Given the description of an element on the screen output the (x, y) to click on. 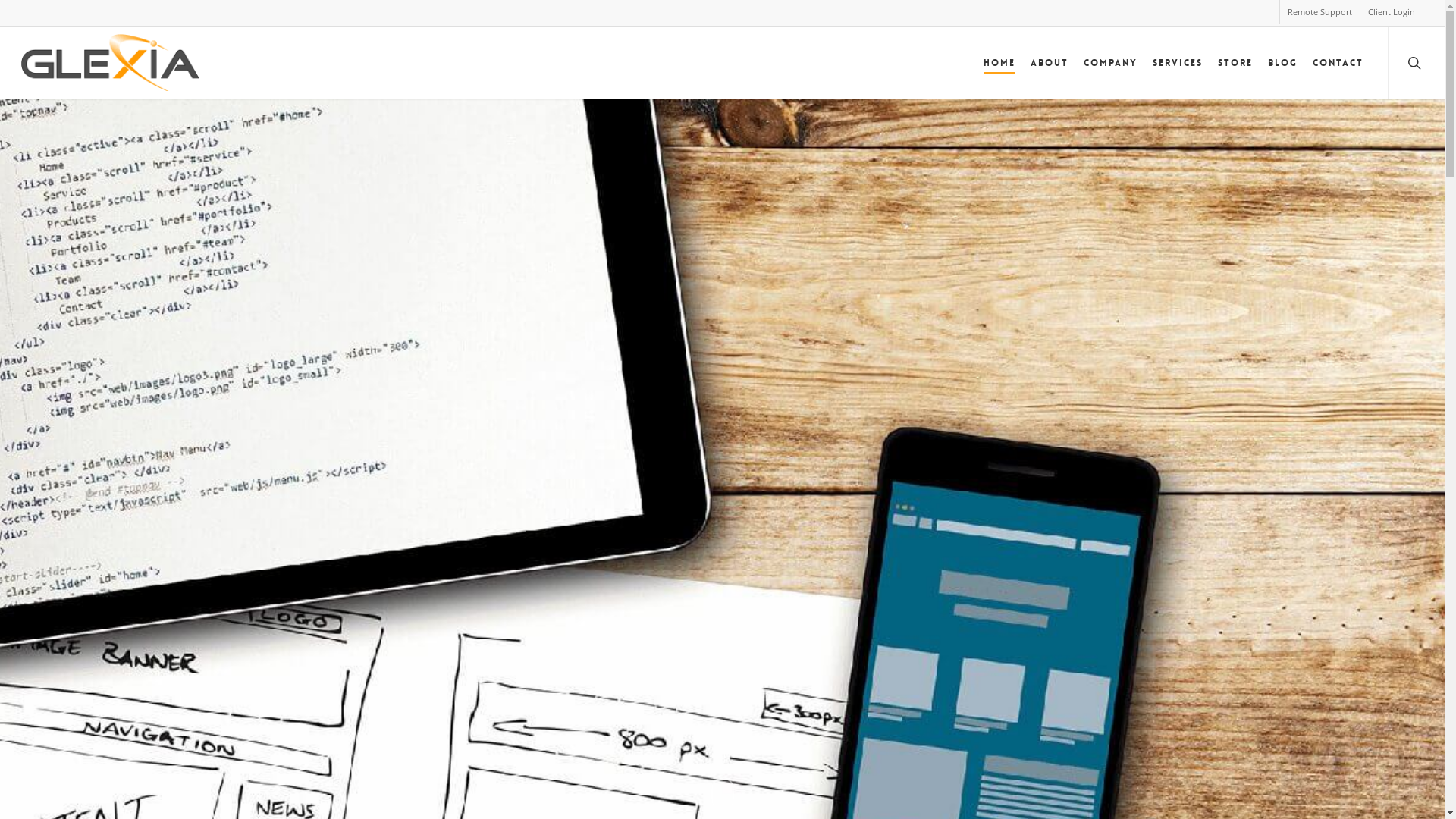
STORE Element type: text (1234, 61)
AS62707 Element type: text (298, 613)
linkedin Element type: text (1073, 793)
search Element type: text (1415, 62)
10 Top Tips for Improving Web Usability Element type: text (601, 596)
Remote Support Element type: text (1319, 11)
twitter Element type: text (957, 793)
View All Details Element type: text (1061, 566)
HOME Element type: text (999, 61)
stackexchange Element type: text (1188, 793)
info@glexia.com Element type: text (1034, 465)
Sign up Element type: text (283, 497)
ABOUT Element type: text (1049, 61)
Terms of Service Element type: text (792, 643)
CONTACT Element type: text (1337, 61)
pinterest Element type: text (1043, 793)
facebook Element type: text (984, 793)
google-plus Element type: text (1161, 793)
5 Great Password Managers Element type: text (601, 354)
BLOG Element type: text (1282, 61)
Why Your Medical Practice Needs a Secure IT Infrastructure Element type: text (601, 529)
International Contact Information Element type: text (1076, 522)
dribbble Element type: text (1103, 793)
View on Map Element type: text (1024, 430)
SERVICES Element type: text (1177, 61)
Privacy Policy Element type: text (784, 624)
github Element type: text (1131, 793)
The Rise Of Ransomware and Why You Should Be Concerned Element type: text (601, 442)
More Information Element type: text (829, 532)
vimeo Element type: text (1011, 793)
COMPANY Element type: text (1110, 61)
66 642 048 182 Element type: text (316, 574)
642 048 182 Element type: text (308, 593)
Client Login Element type: text (1390, 11)
